Given the description of an element on the screen output the (x, y) to click on. 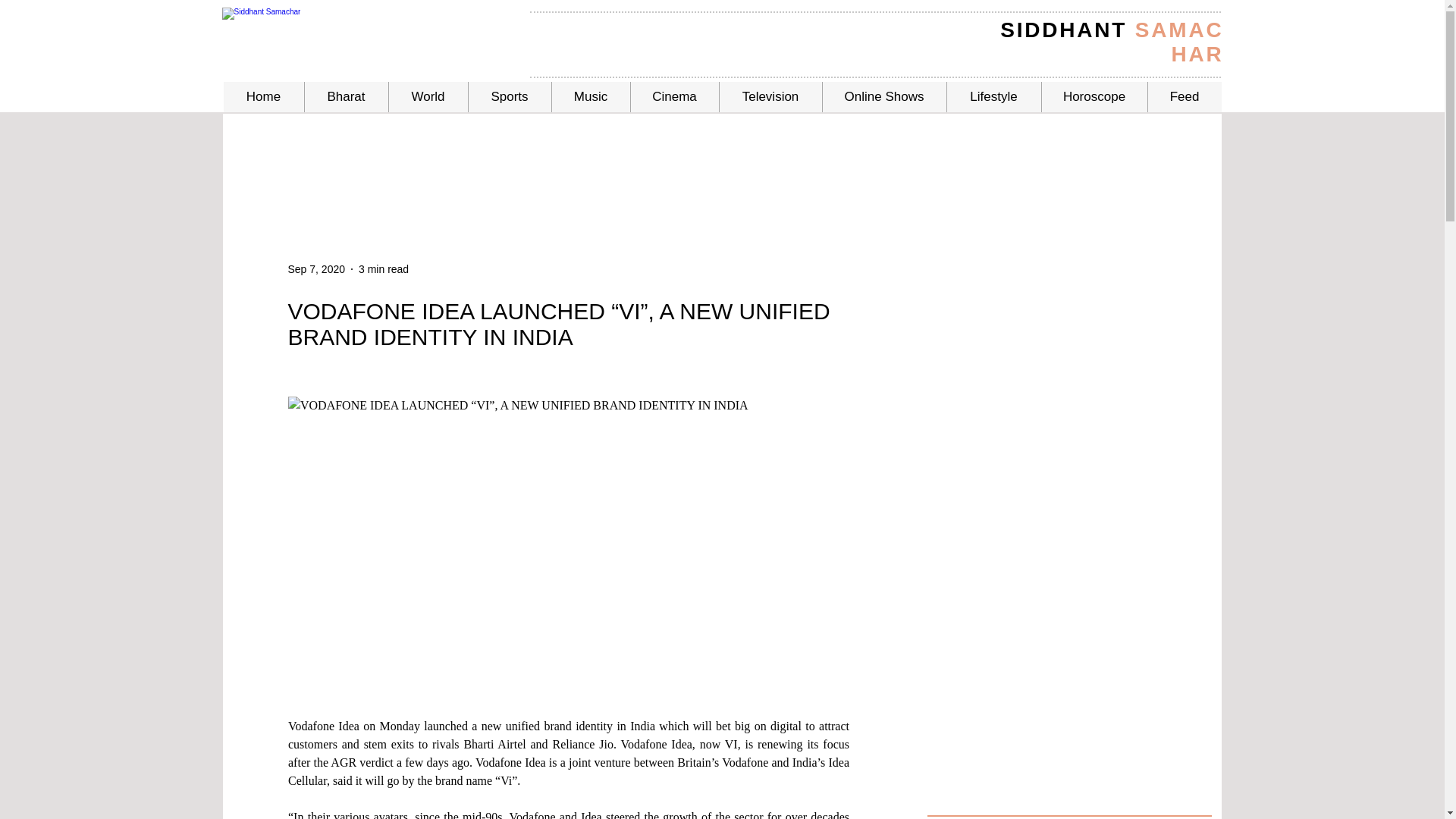
Sports (508, 96)
Horoscope (1094, 96)
SIDDHANT SAMACHAR (1111, 42)
Cinema (672, 96)
Siddhant Samachar (352, 30)
Music (589, 96)
Online Shows (884, 96)
Lifestyle (993, 96)
3 min read (383, 268)
World (427, 96)
